Given the description of an element on the screen output the (x, y) to click on. 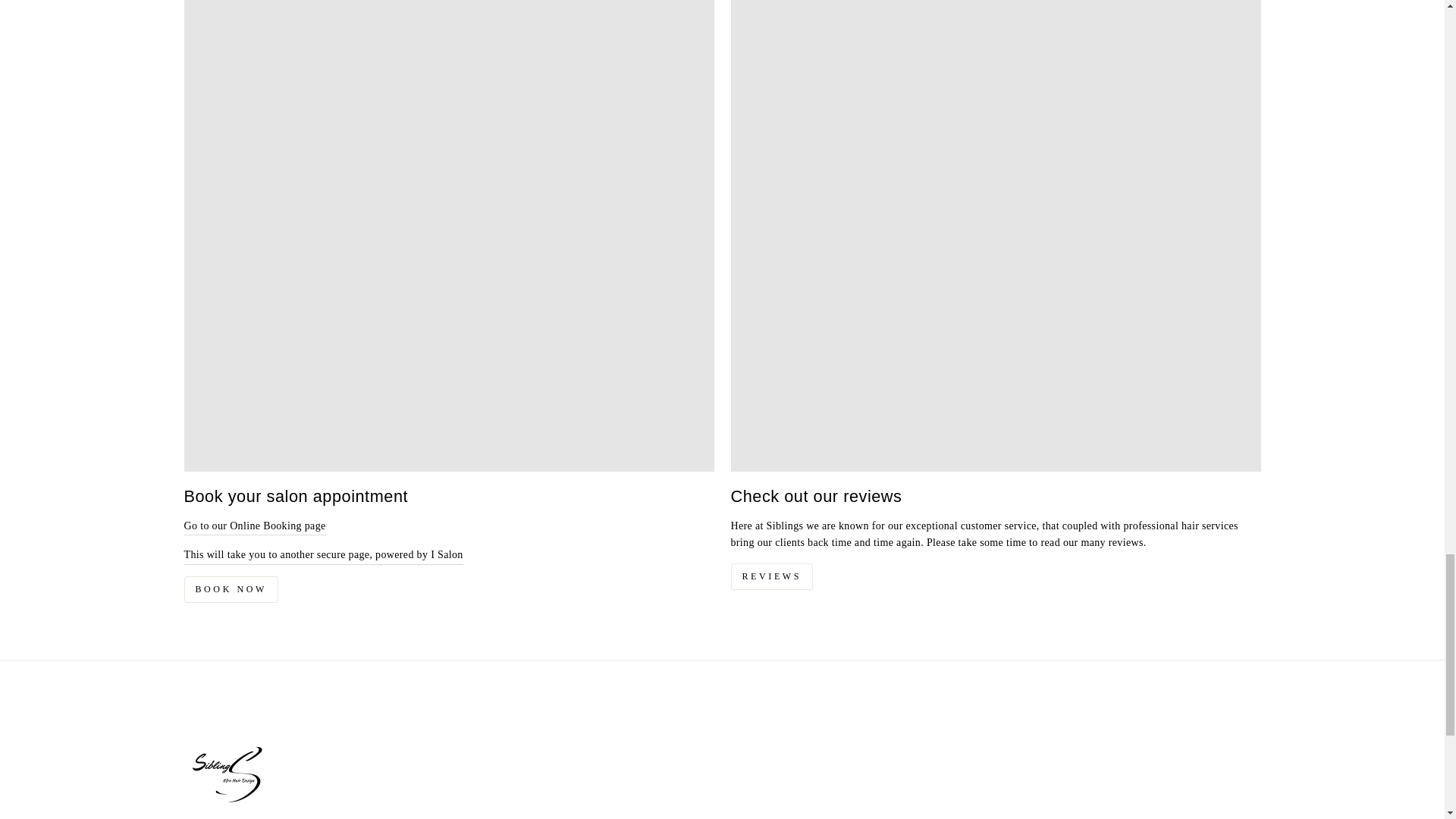
Book Online (323, 555)
